Given the description of an element on the screen output the (x, y) to click on. 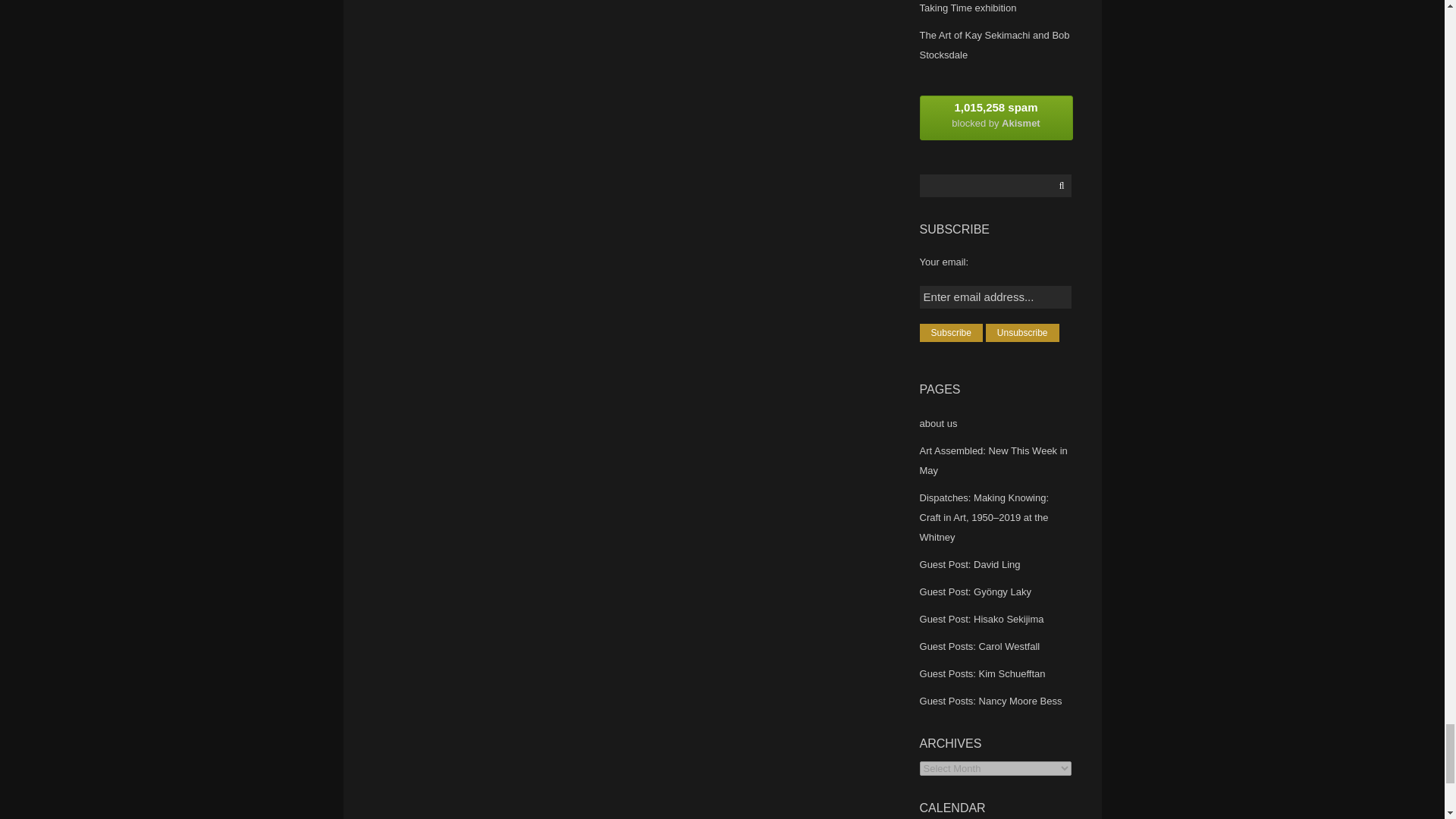
Fuller Craft, Brockton, Massachusetts (995, 44)
Search (1059, 185)
Unsubscribe (1022, 332)
Enter email address... (995, 296)
Subscribe (951, 332)
Sue Lawty  (968, 7)
